Given the description of an element on the screen output the (x, y) to click on. 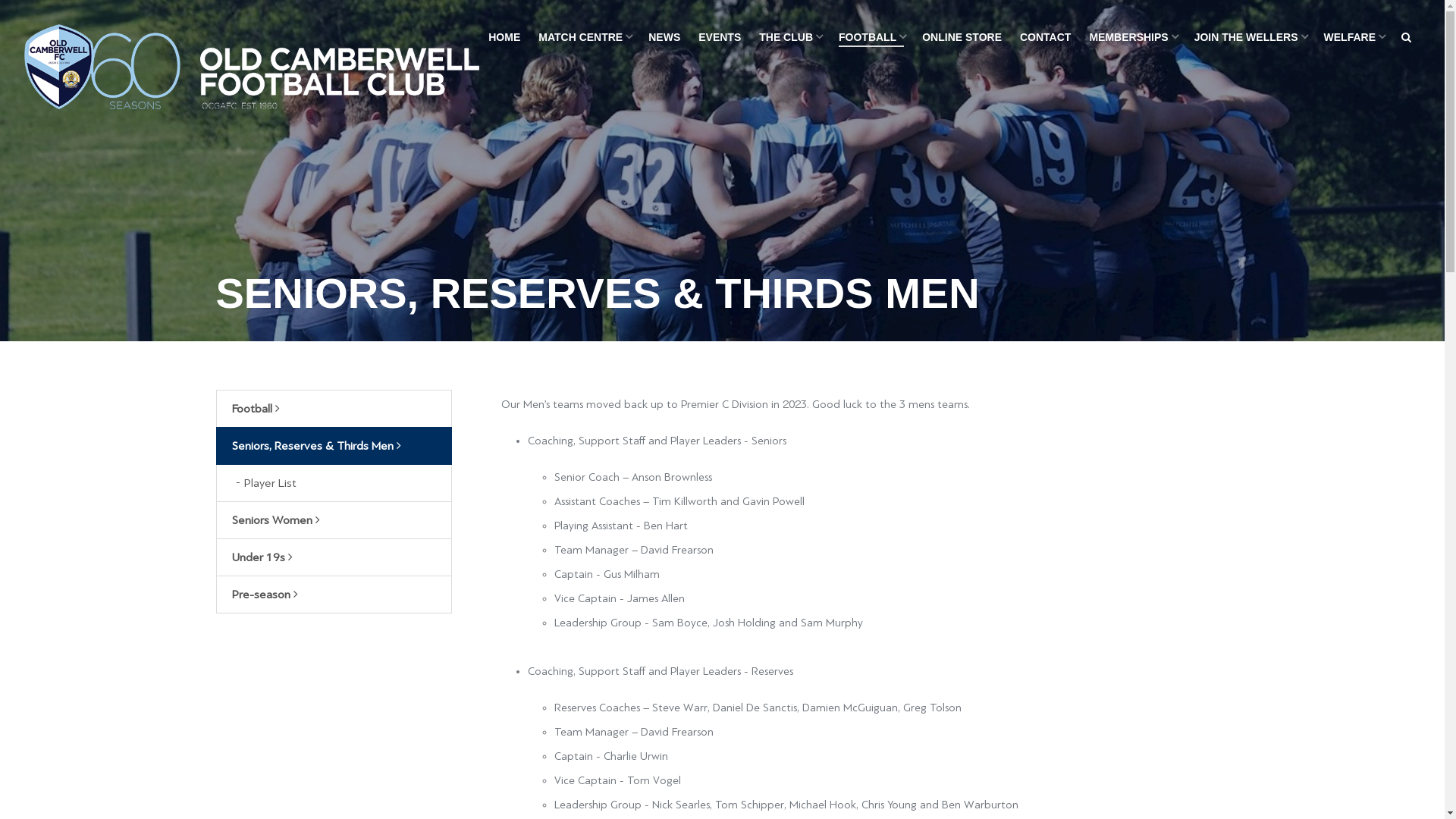
JOIN THE WELLERS Element type: text (1249, 37)
CONTACT Element type: text (1044, 37)
THE CLUB Element type: text (789, 37)
Under 19s  Element type: text (333, 557)
Search Element type: hover (1406, 37)
FOOTBALL Element type: text (871, 38)
MEMBERSHIPS Element type: text (1131, 37)
ONLINE STORE Element type: text (961, 37)
NEWS Element type: text (664, 37)
MATCH CENTRE Element type: text (584, 37)
Seniors, Reserves & Thirds Men  Element type: text (333, 445)
WELFARE Element type: text (1353, 37)
HOME Element type: text (504, 37)
Football  Element type: text (333, 408)
Pre-season  Element type: text (333, 594)
Seniors Women  Element type: text (333, 520)
EVENTS Element type: text (719, 37)
Player List Element type: text (333, 482)
